Given the description of an element on the screen output the (x, y) to click on. 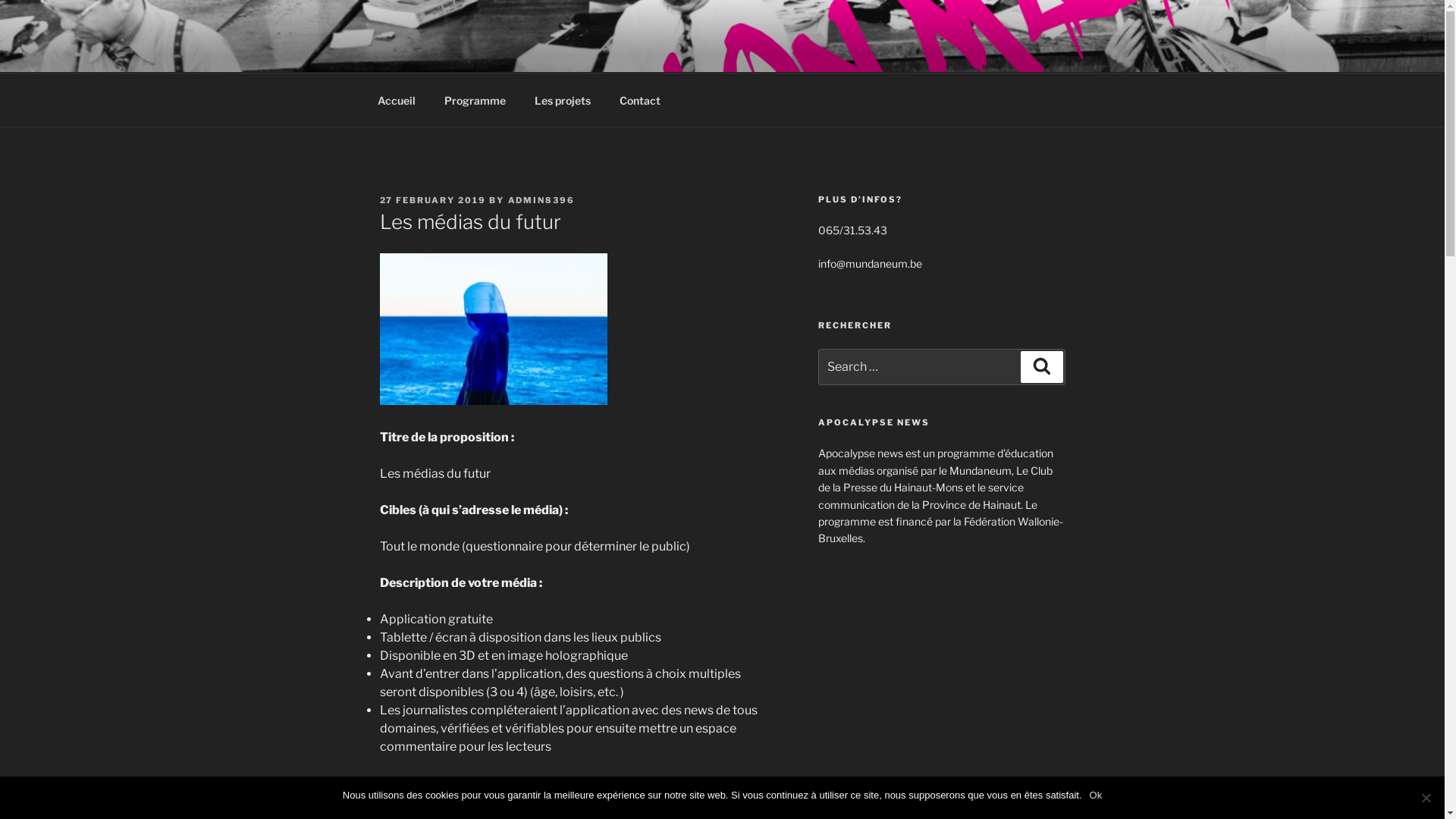
Les projets Element type: text (562, 100)
27 FEBRUARY 2019 Element type: text (432, 199)
Skip to content Element type: text (0, 0)
ADMIN8396 Element type: text (541, 199)
Search Element type: text (1041, 366)
Accueil Element type: text (396, 100)
Ok Element type: text (1095, 794)
APOCALYPSE NEWS ! Element type: text (546, 52)
Contact Element type: text (640, 100)
Programme Element type: text (474, 100)
